Given the description of an element on the screen output the (x, y) to click on. 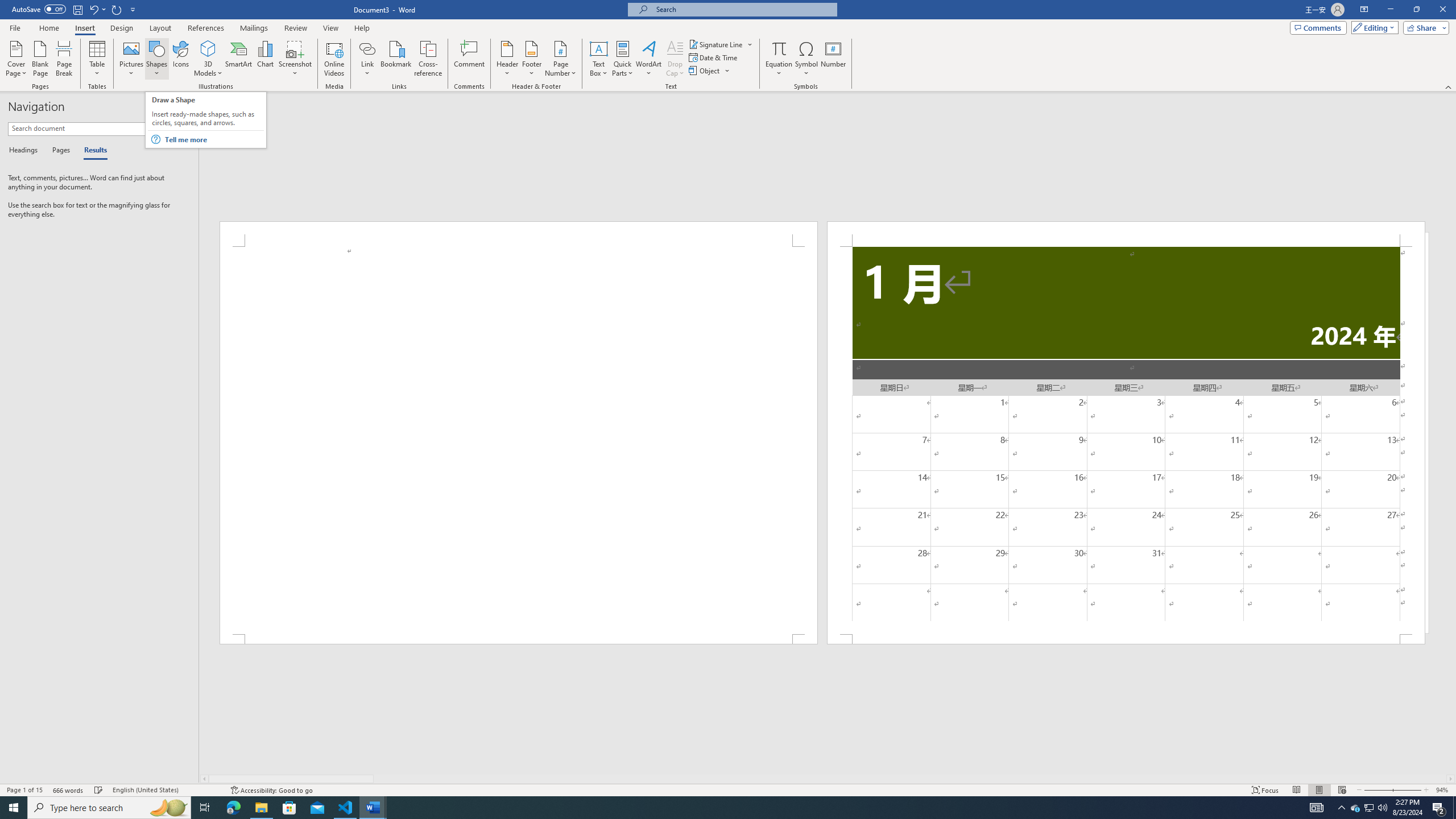
Comment (469, 58)
Undo New Page (96, 9)
Chart... (265, 58)
Bookmark... (396, 58)
Tell me more (213, 139)
Equation (778, 48)
Equation (778, 58)
Signature Line (721, 44)
